Given the description of an element on the screen output the (x, y) to click on. 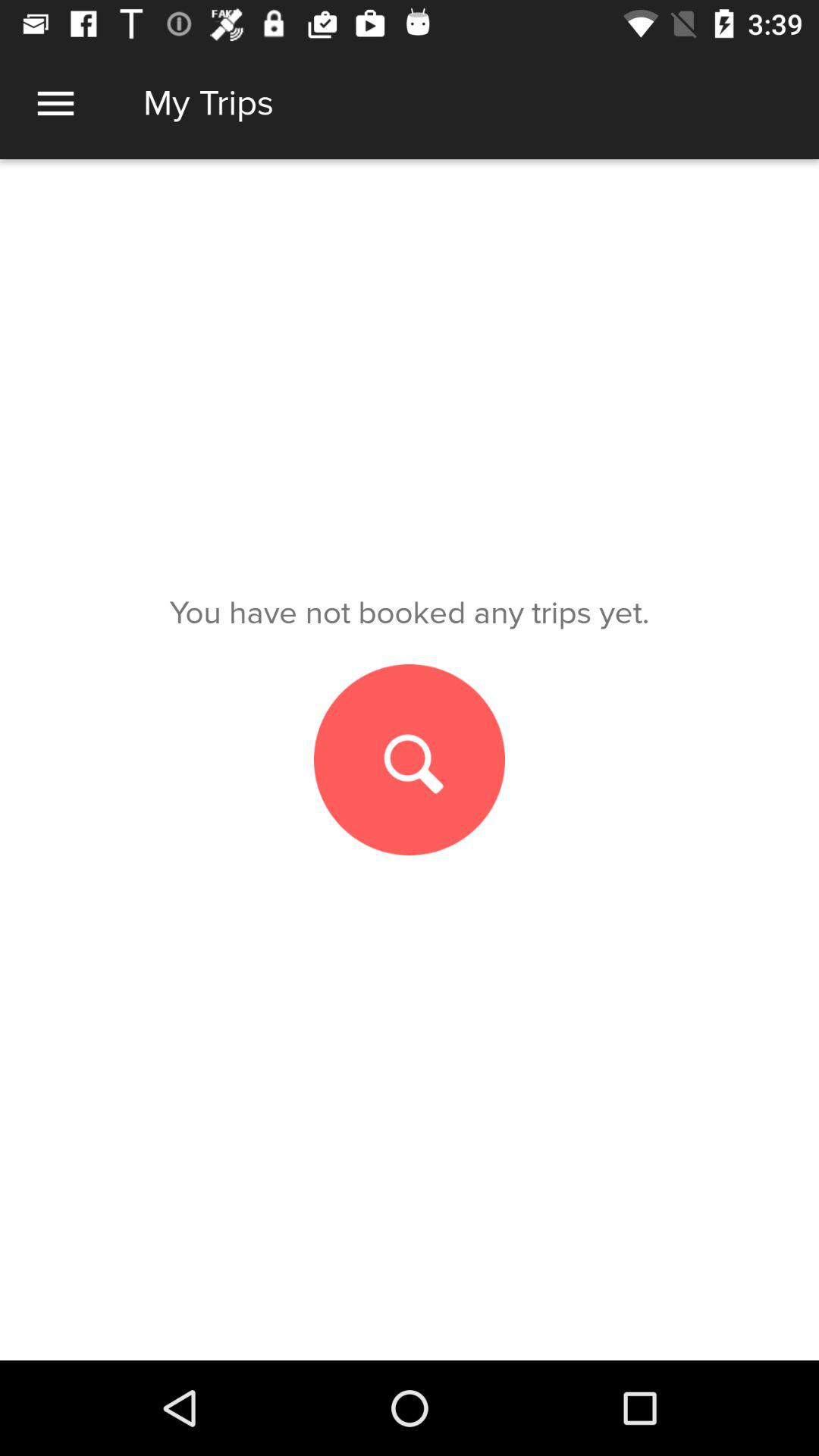
open icon below the you have not item (409, 759)
